Given the description of an element on the screen output the (x, y) to click on. 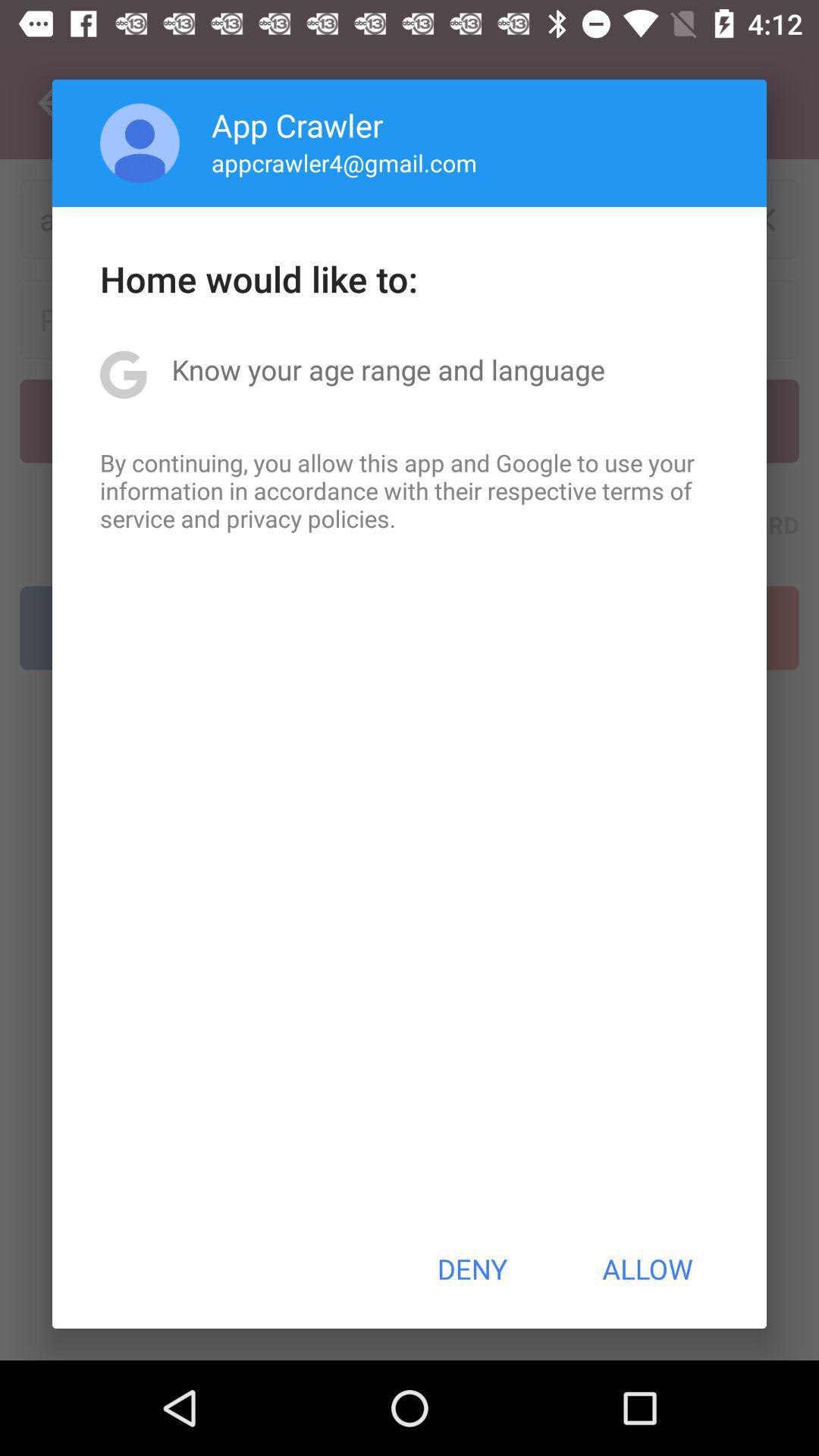
select the item above home would like (139, 143)
